Given the description of an element on the screen output the (x, y) to click on. 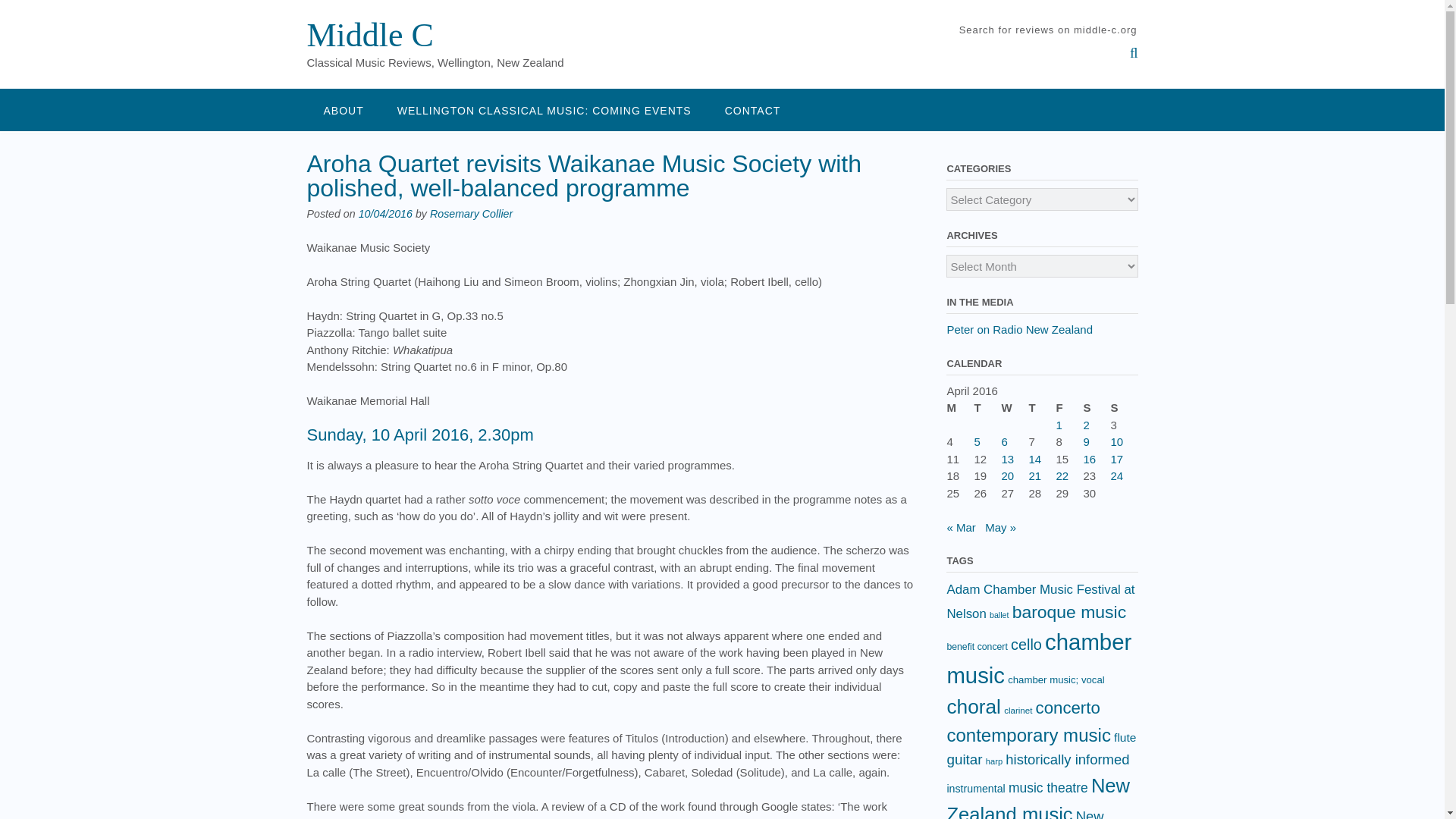
ballet (999, 614)
Rosemary Collier (470, 214)
22 (1061, 475)
Tuesday (987, 407)
CONTACT (752, 109)
Wednesday (1014, 407)
Friday (1069, 407)
Middle C (368, 35)
20 (1007, 475)
Thursday (1041, 407)
